Given the description of an element on the screen output the (x, y) to click on. 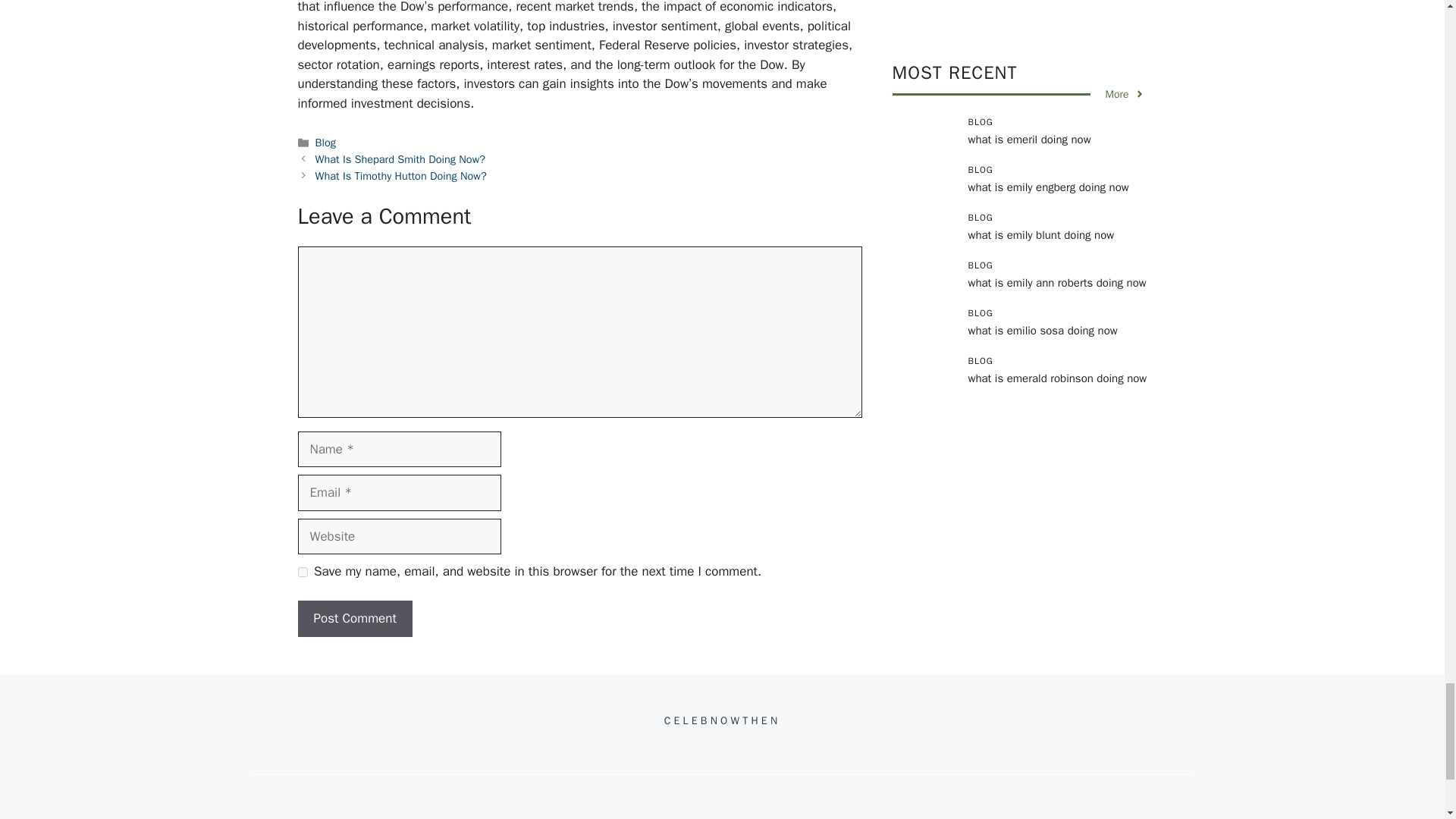
yes (302, 572)
What Is Timothy Hutton Doing Now? (400, 174)
Post Comment (354, 618)
What Is Shepard Smith Doing Now? (399, 159)
Post Comment (354, 618)
Blog (325, 142)
